Given the description of an element on the screen output the (x, y) to click on. 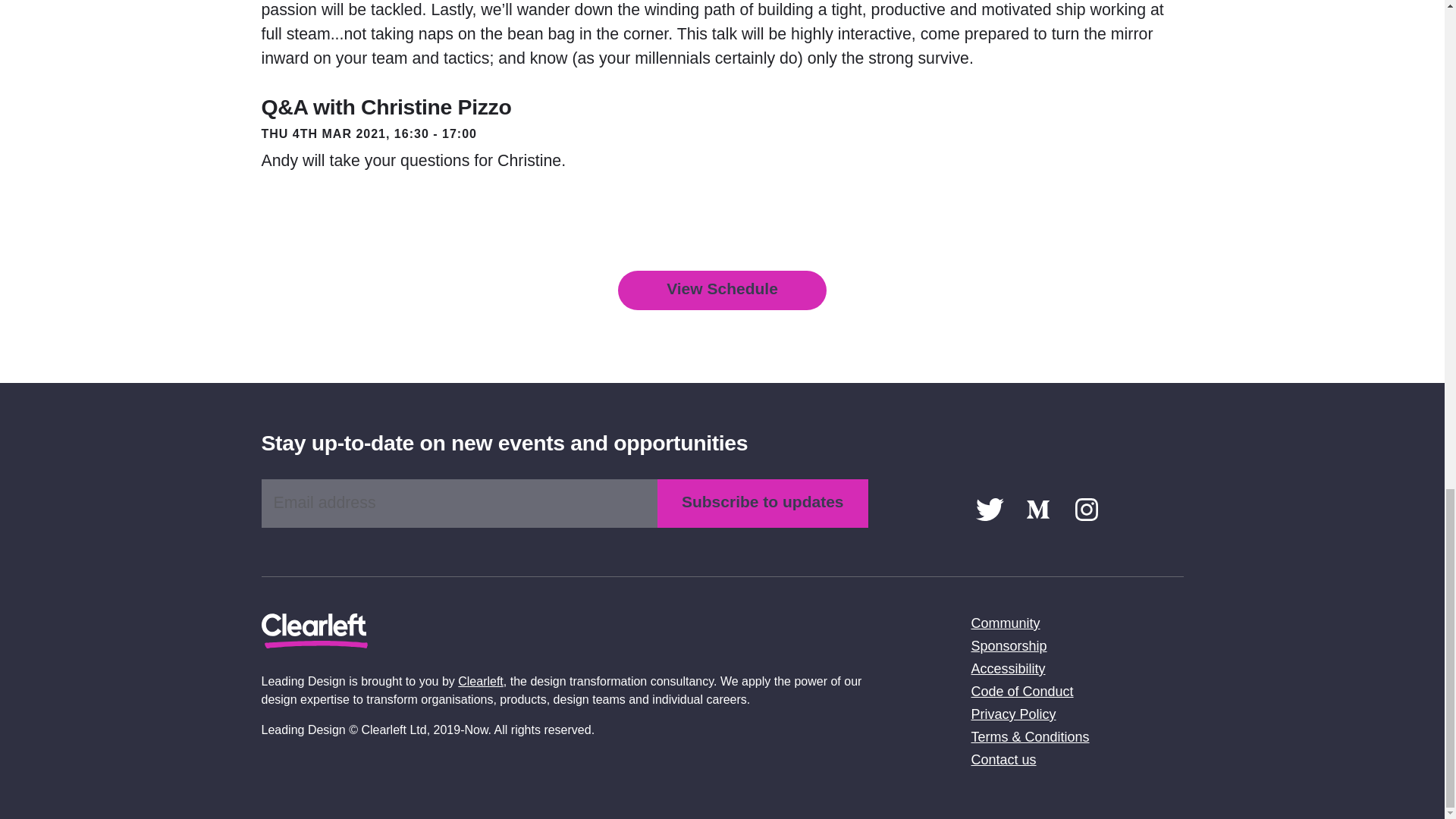
Accessibility (1008, 668)
Subscribe to updates (762, 503)
Sponsorship (1008, 645)
Code of Conduct (1022, 691)
View Schedule (722, 290)
Privacy Policy (1013, 713)
Contact us (1003, 759)
Clearleft (480, 680)
Community (1005, 622)
